Given the description of an element on the screen output the (x, y) to click on. 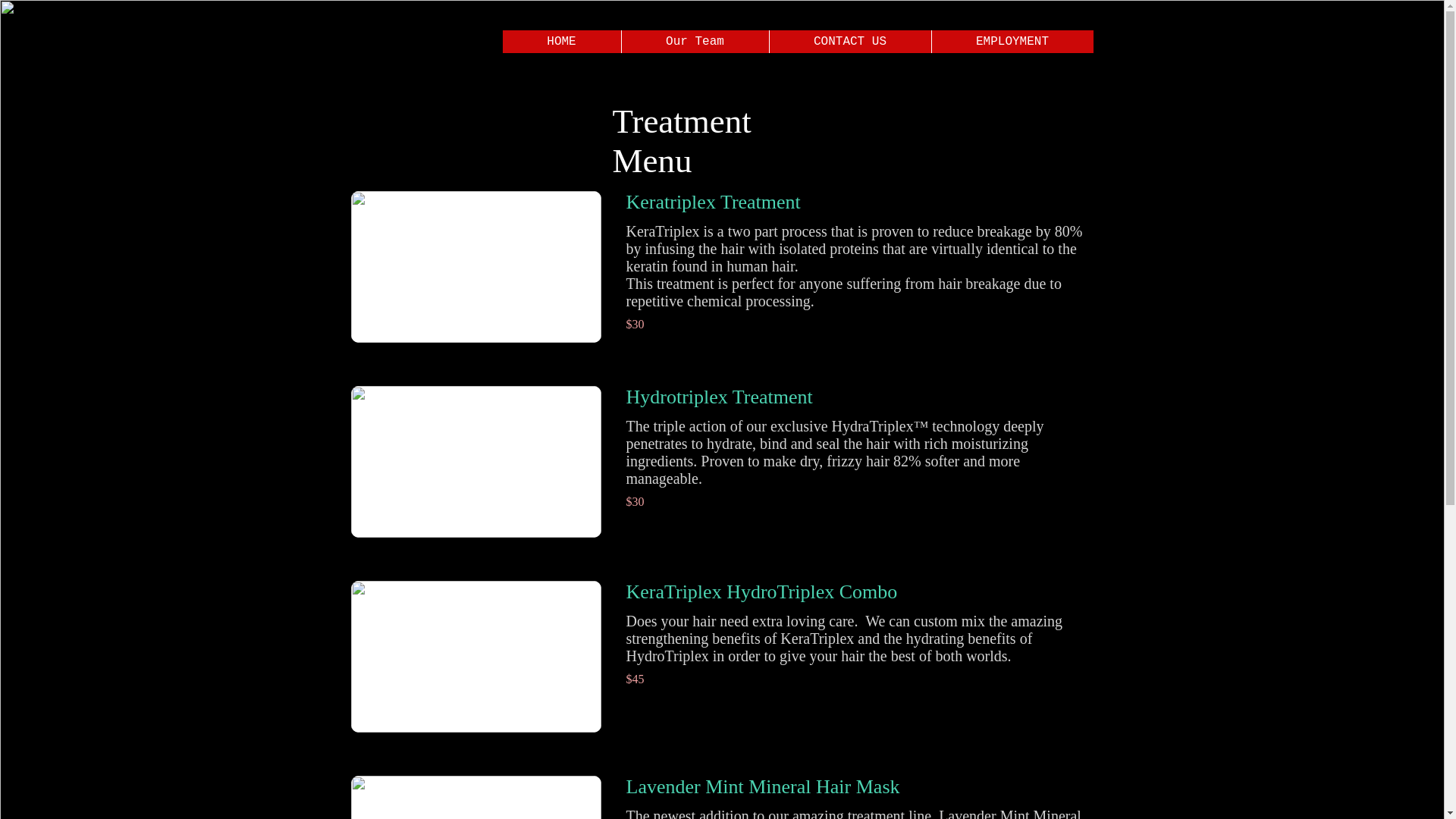
KeraTriplex and HydroTriplex for stregth and Hydration (474, 656)
CONTACT US (849, 41)
Keratriplex treatment for chemically damaged hair (474, 266)
Hydro Complex Treatment for Dry Frizzy Hair (474, 461)
HOME (561, 41)
paul mitchell lavender mint mineral hair mask (474, 797)
EMPLOYMENT (1012, 41)
